Given the description of an element on the screen output the (x, y) to click on. 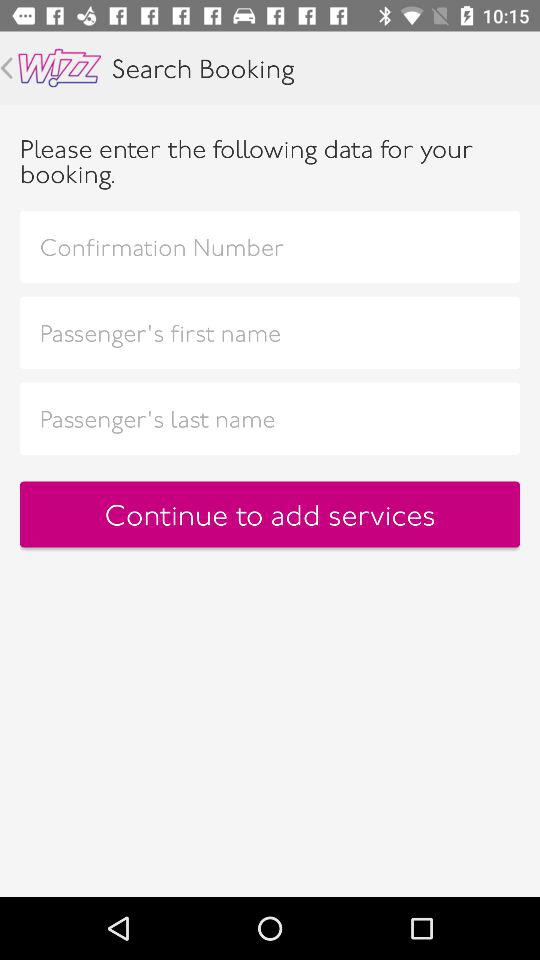
open the continue to add (269, 514)
